Given the description of an element on the screen output the (x, y) to click on. 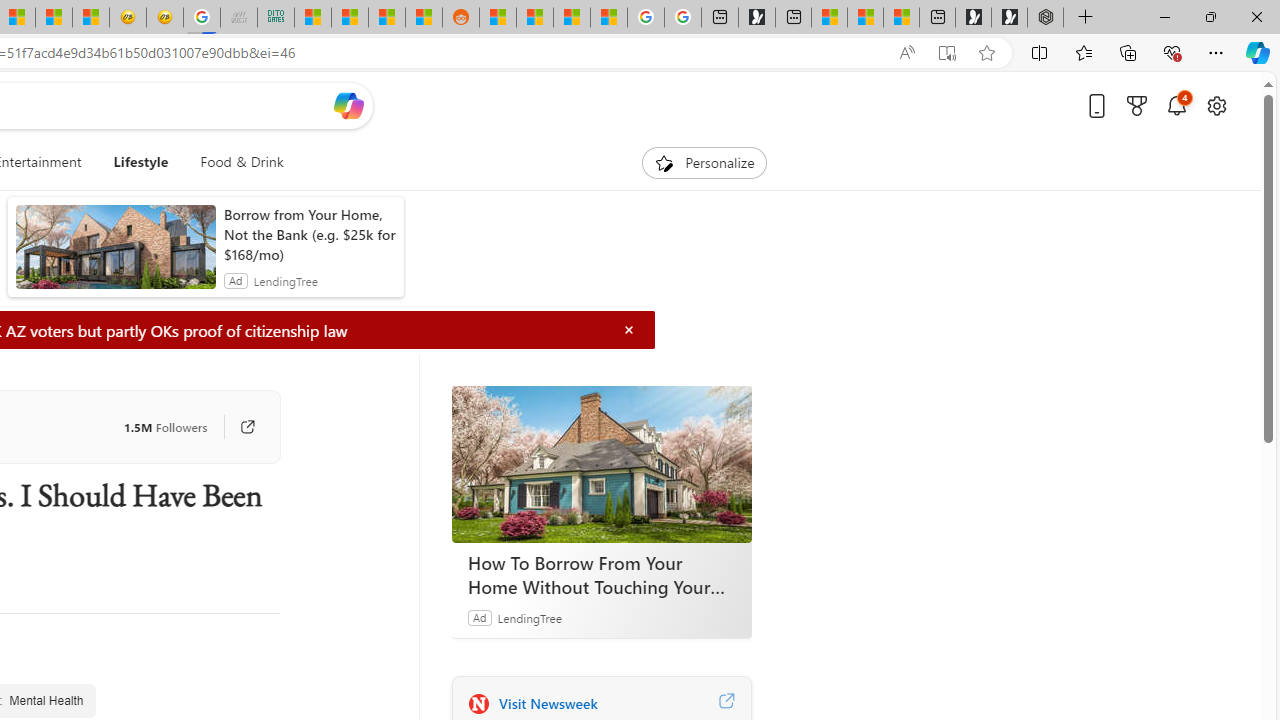
Newsweek (478, 703)
